Given the description of an element on the screen output the (x, y) to click on. 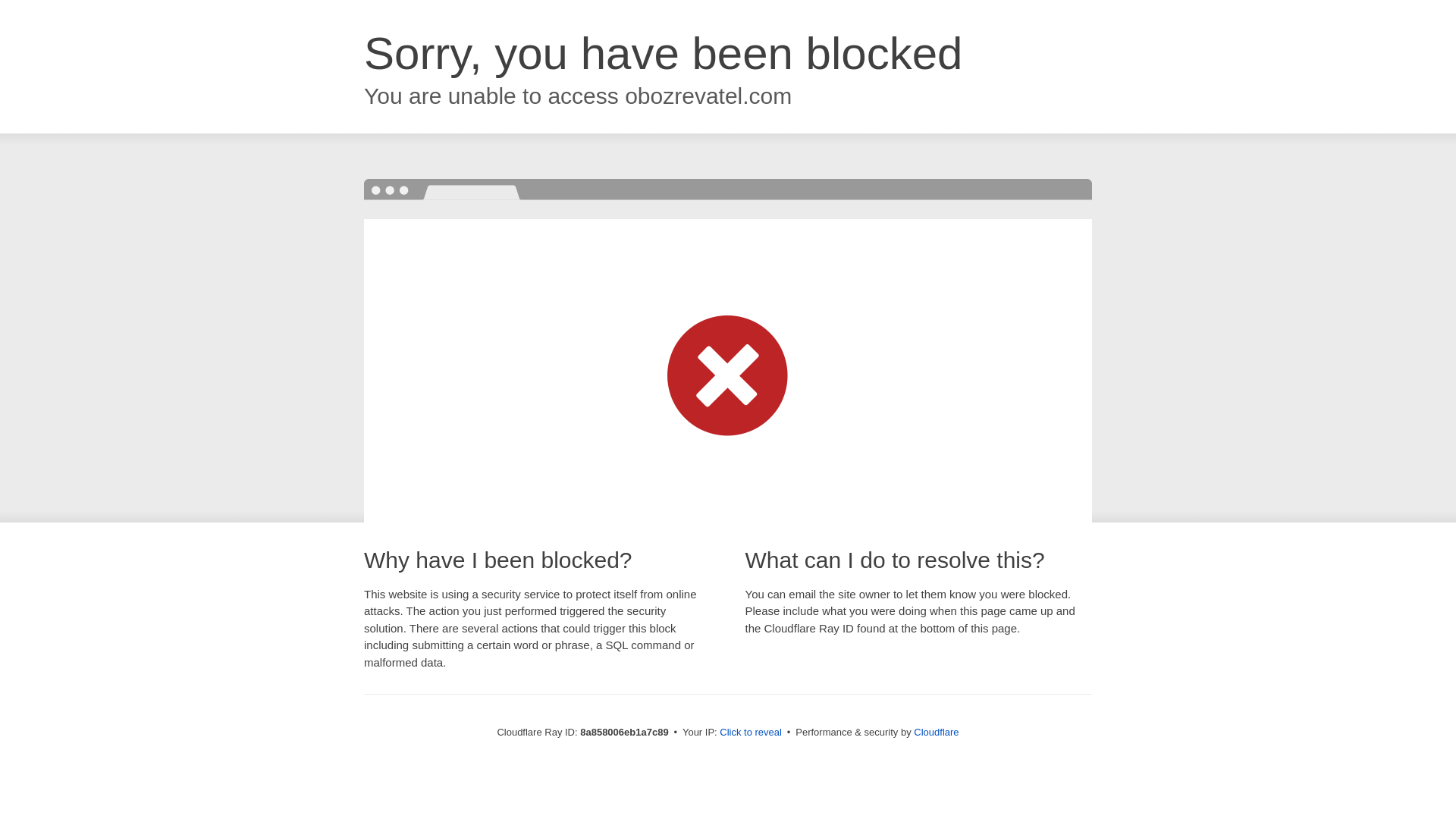
Click to reveal (750, 732)
Cloudflare (936, 731)
